Given the description of an element on the screen output the (x, y) to click on. 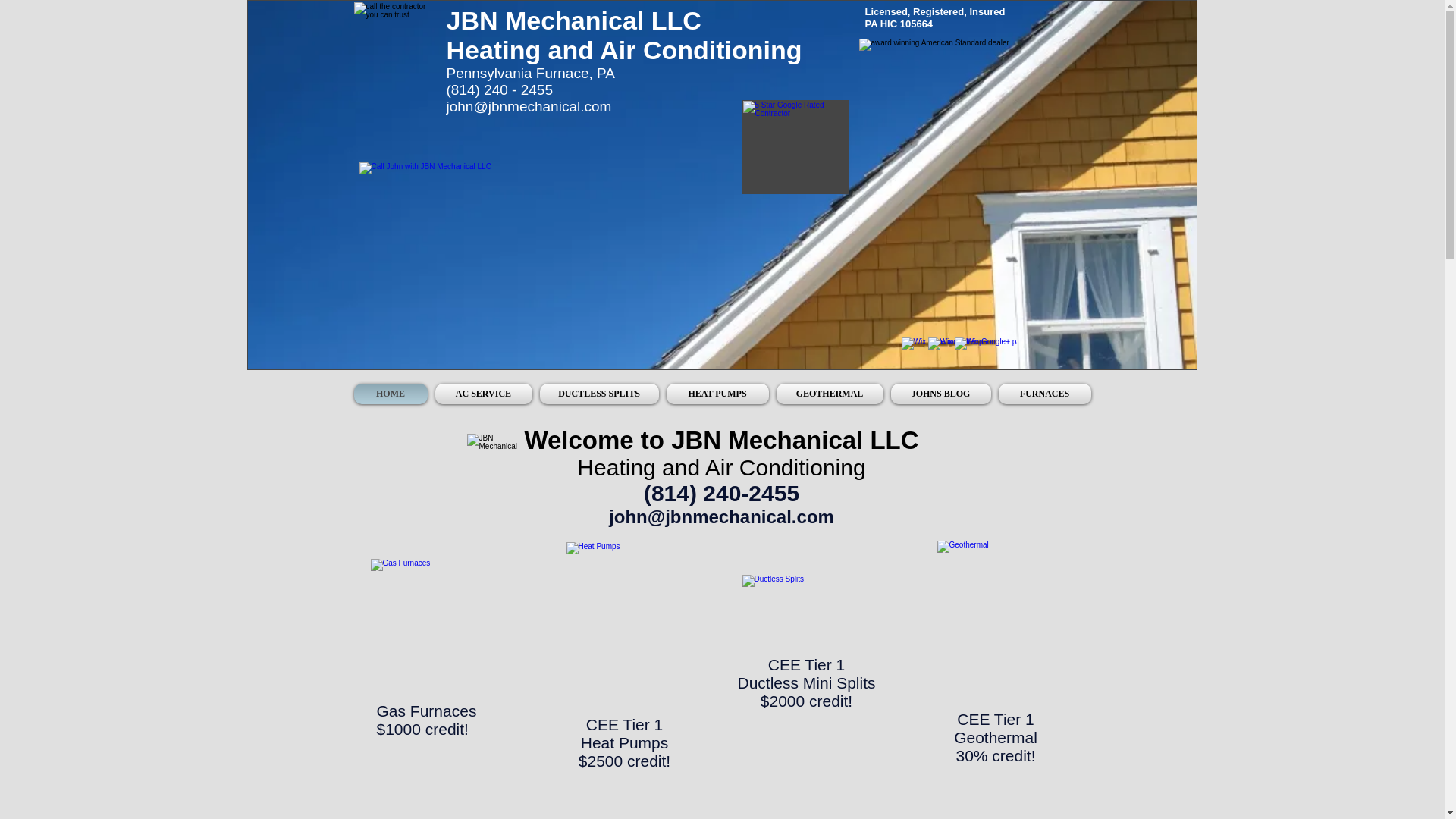
JBN Logo (393, 37)
JOHNS BLOG (940, 394)
HOME (391, 394)
JBN does Geothermal! (997, 595)
Mitubishi-Electric (800, 599)
HEAT PUMPS (717, 394)
Check out our GREAT REVIEWS on GOOGLE! (794, 146)
FURNACES (1042, 394)
GEOTHERMAL (828, 394)
JBN Logo (496, 459)
DUCTLESS SPLITS (598, 394)
AC SERVICE (482, 394)
